Given the description of an element on the screen output the (x, y) to click on. 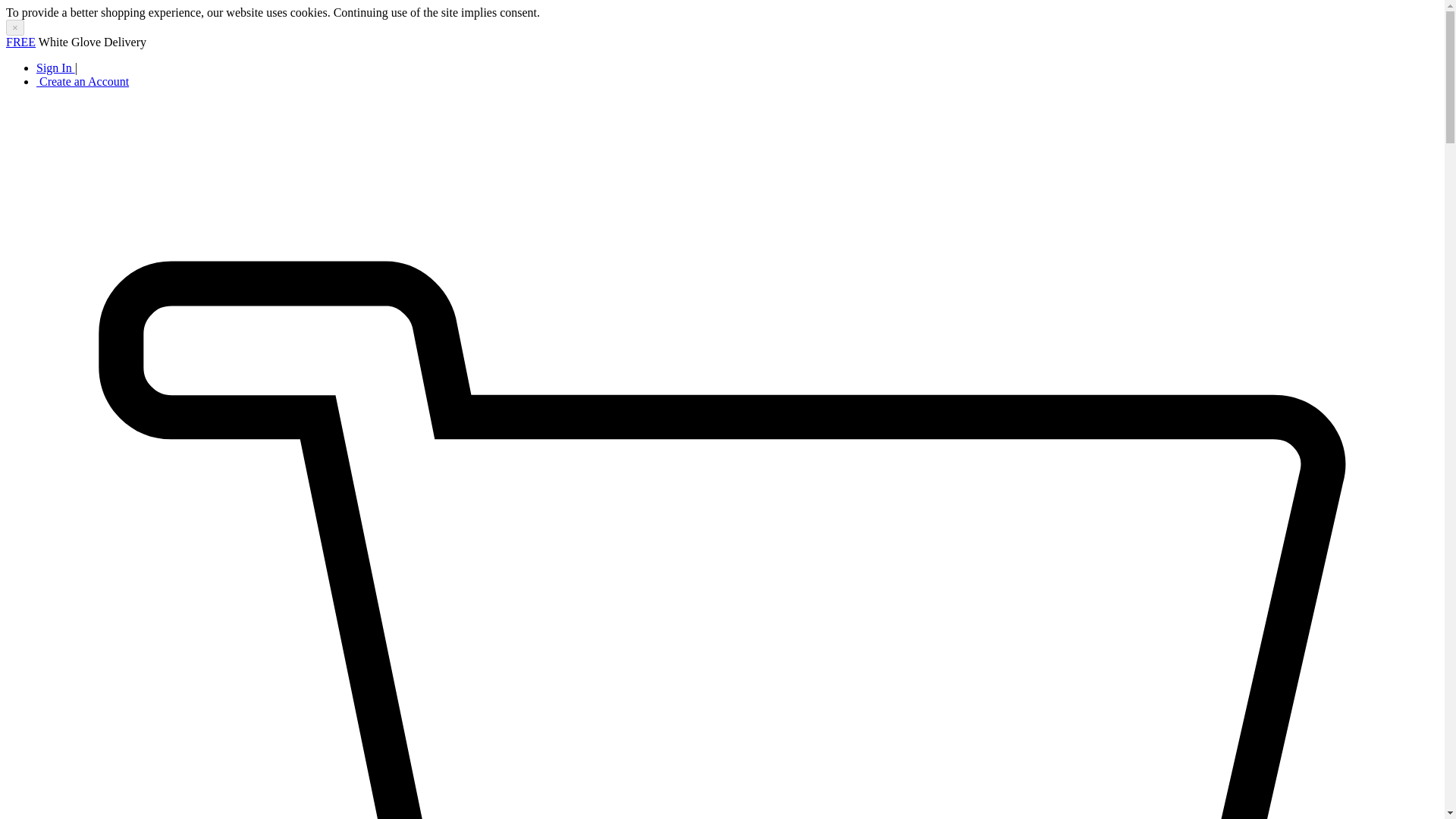
 Create an Account (82, 81)
Sign In (55, 67)
FREE (19, 42)
